Given the description of an element on the screen output the (x, y) to click on. 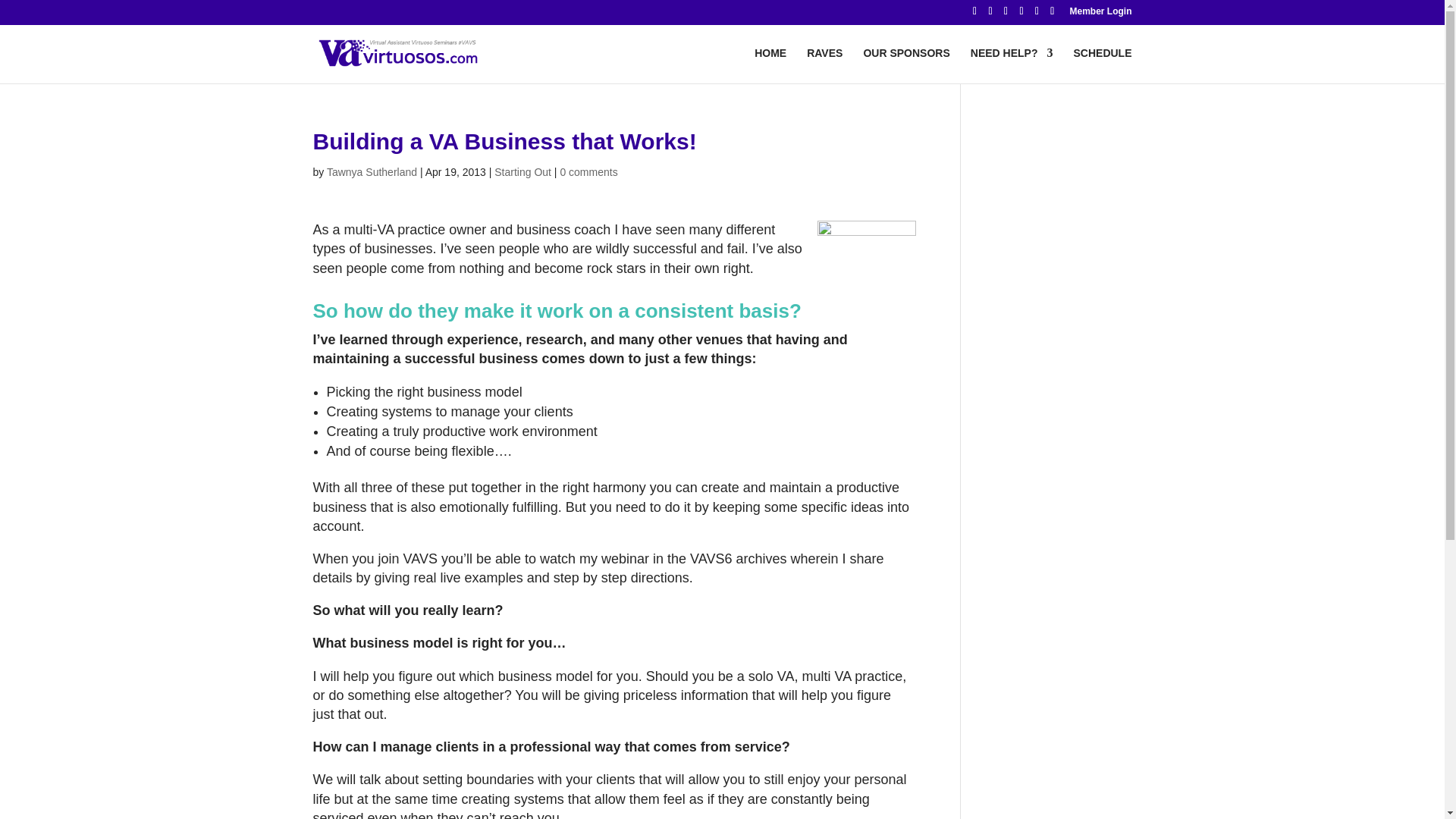
Tawnya Sutherland (371, 172)
0 comments (588, 172)
NEED HELP? (1011, 65)
Posts by Tawnya Sutherland (371, 172)
Starting Out (523, 172)
SCHEDULE (1102, 65)
RAVES (824, 65)
Member Login (1099, 14)
OUR SPONSORS (906, 65)
HOME (770, 65)
